Given the description of an element on the screen output the (x, y) to click on. 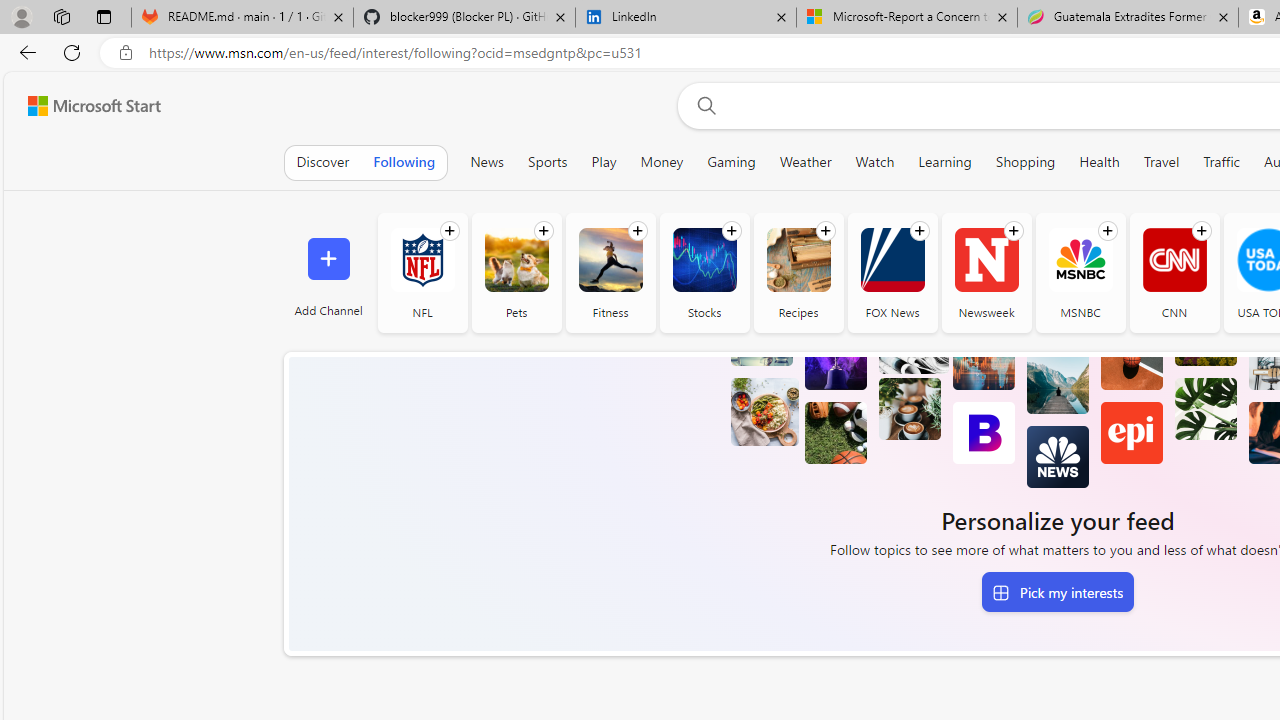
Gaming (731, 162)
Stocks (704, 260)
FOX News (892, 260)
Follow channel (1201, 231)
Sports (547, 161)
CNN (1174, 260)
NFL (422, 272)
